Given the description of an element on the screen output the (x, y) to click on. 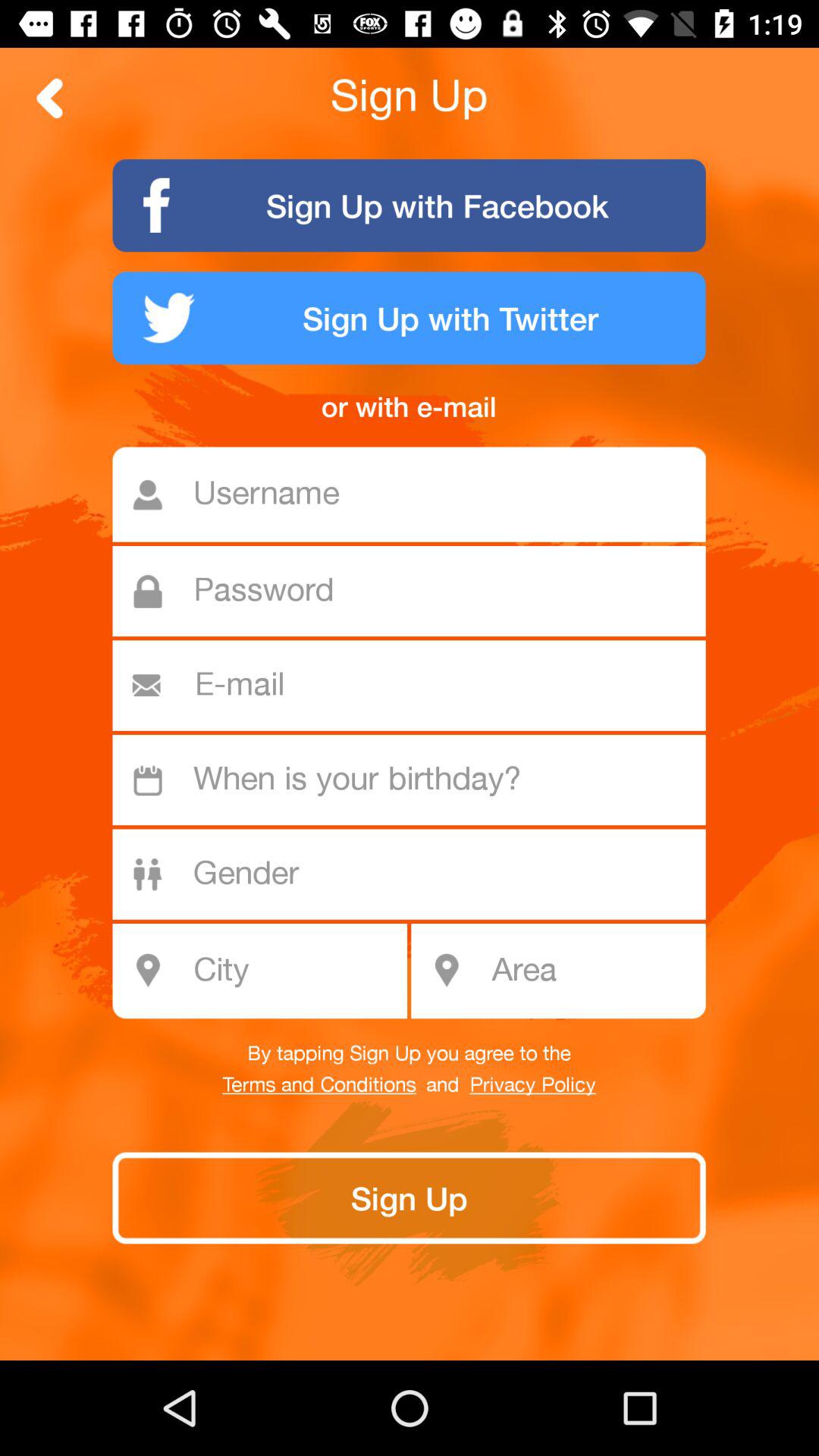
enter username (417, 494)
